Given the description of an element on the screen output the (x, y) to click on. 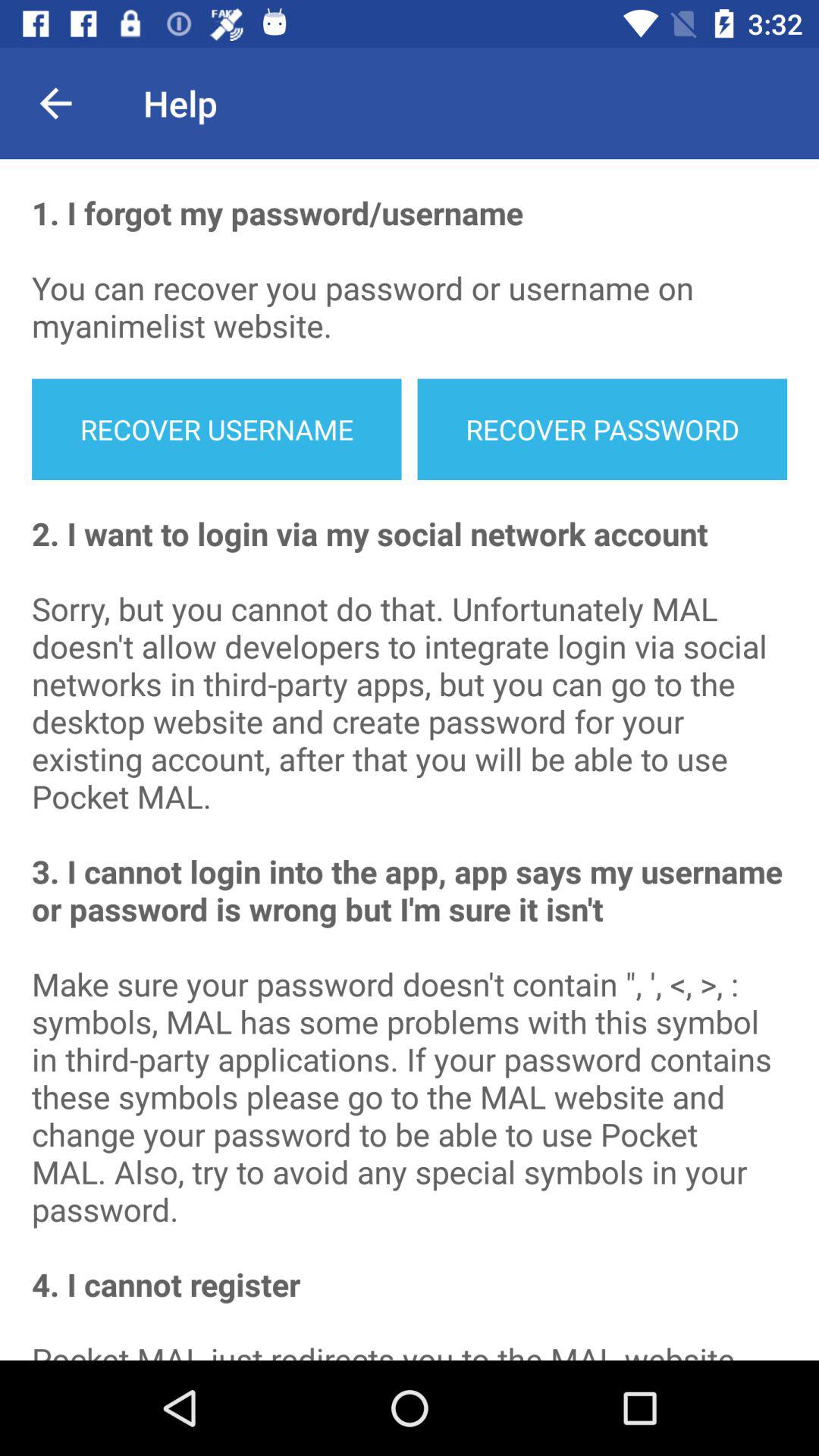
launch the icon next to the help (55, 103)
